Given the description of an element on the screen output the (x, y) to click on. 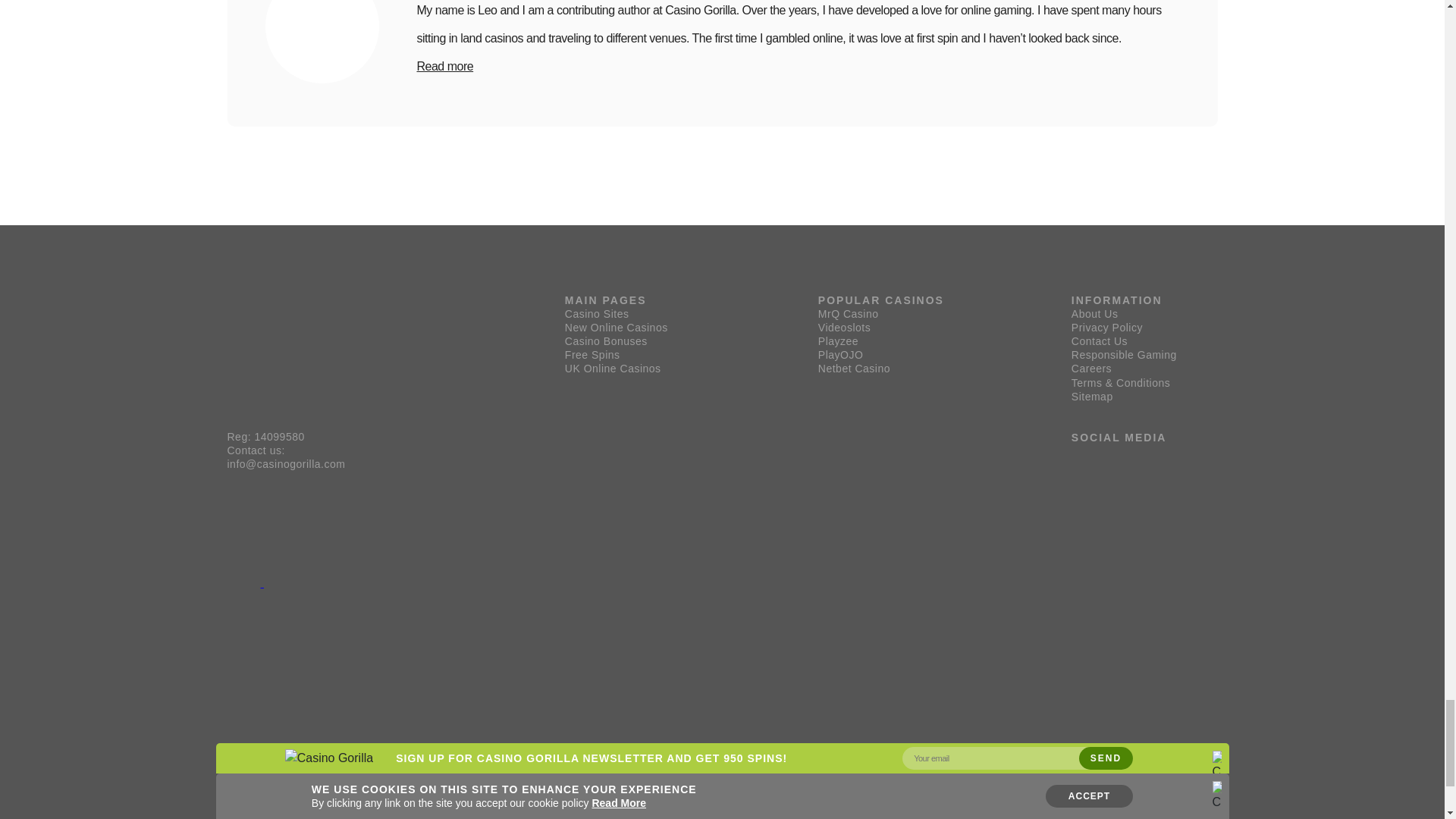
DMCA.com Protection Status (314, 582)
